Given the description of an element on the screen output the (x, y) to click on. 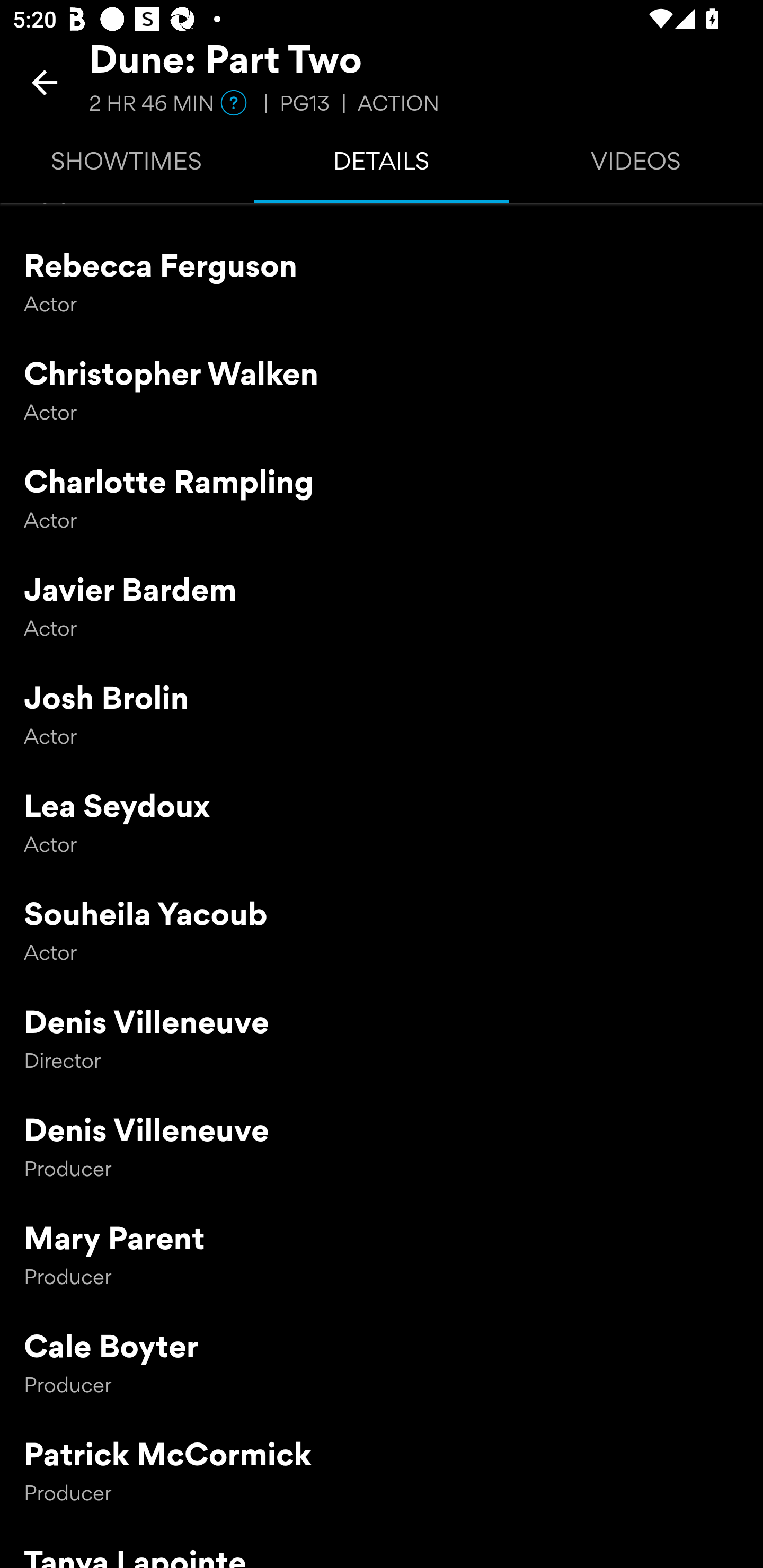
Back (44, 82)
SHOWTIMES
Tab 1 of 3 (127, 165)
DETAILS
Tab 2 of 3 (381, 165)
VIDEOS
Tab 3 of 3 (635, 165)
